Given the description of an element on the screen output the (x, y) to click on. 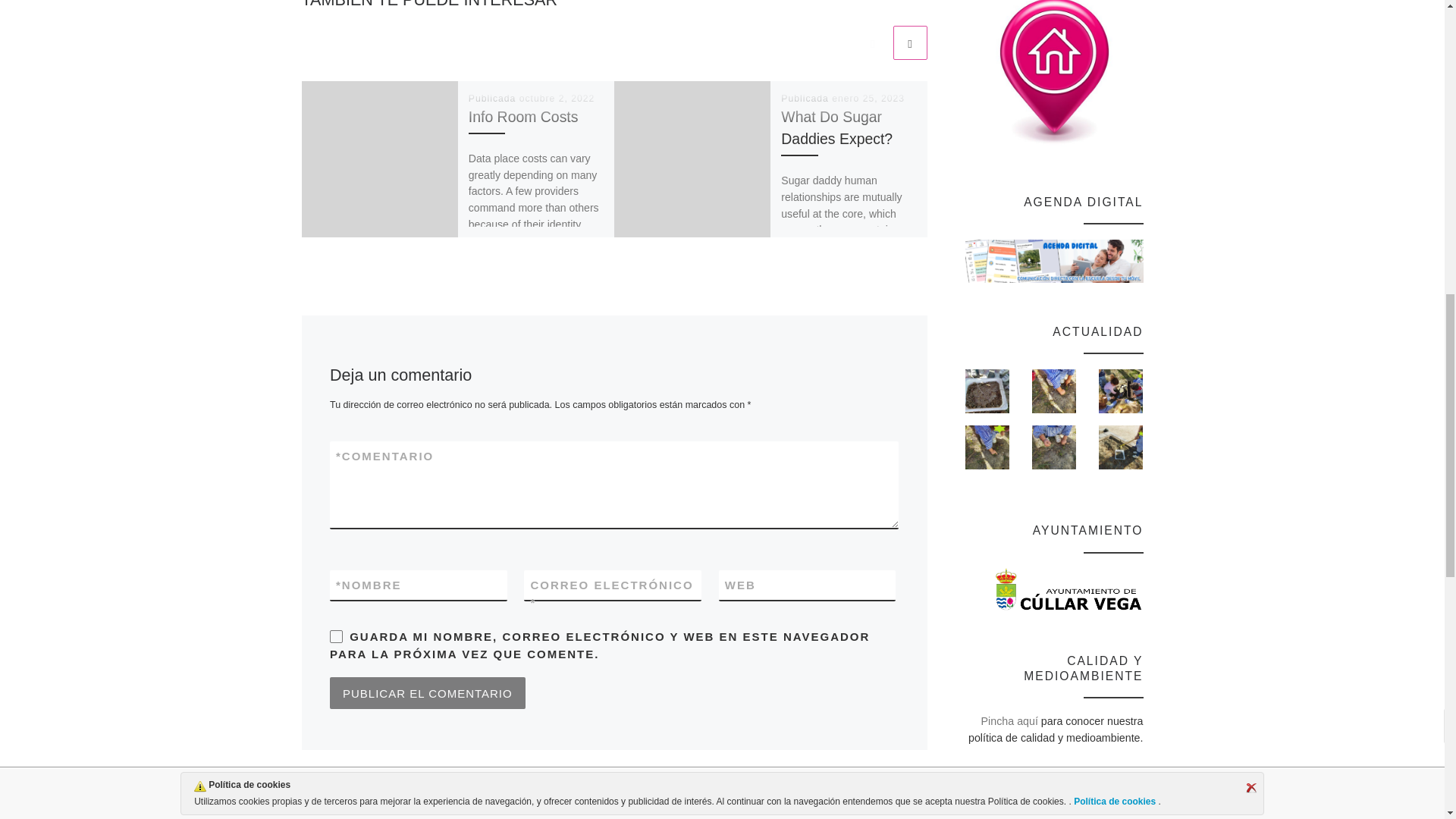
Publicar el comentario (427, 693)
yes (336, 635)
